Given the description of an element on the screen output the (x, y) to click on. 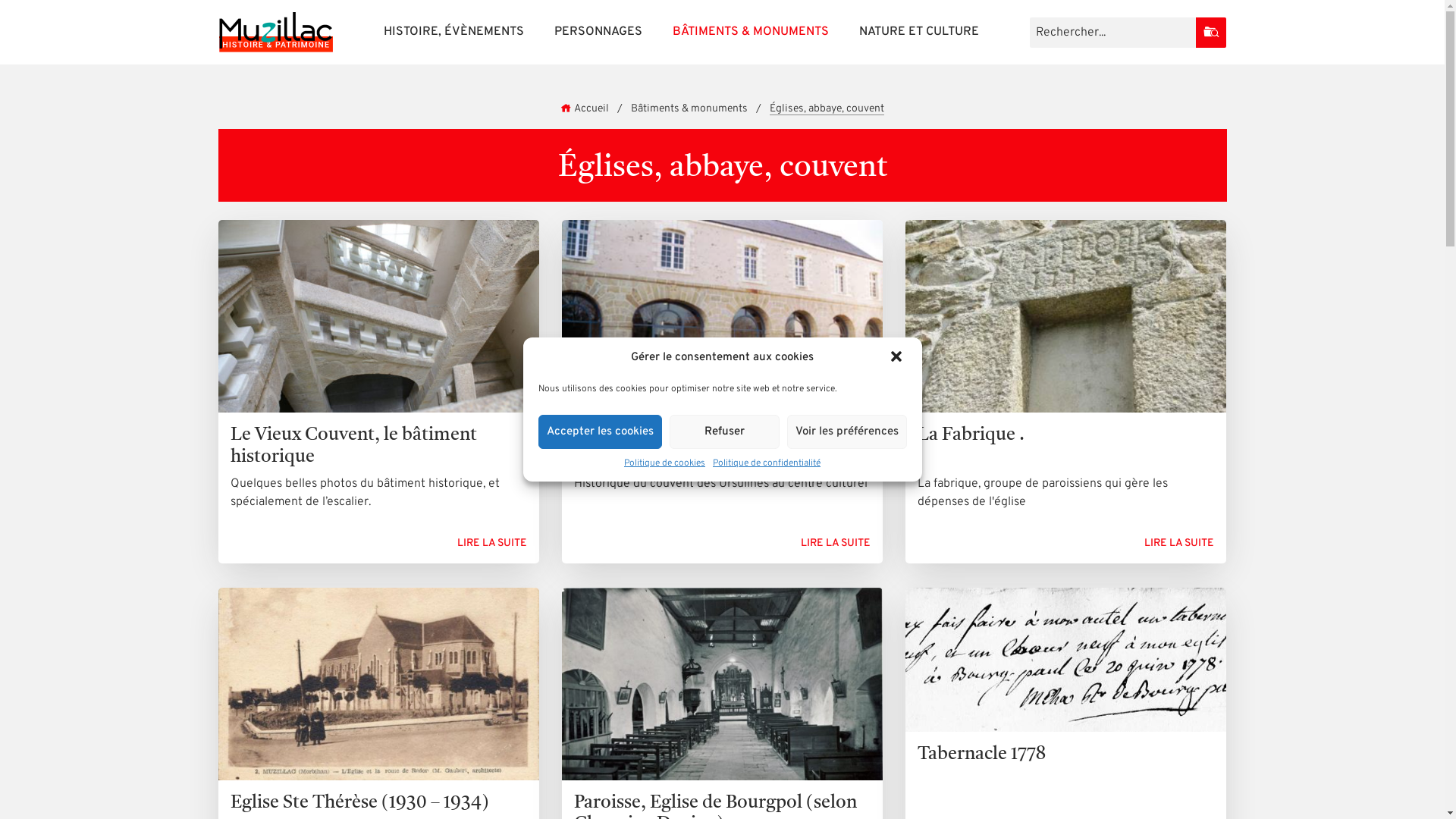
La Fabrique . Element type: text (1065, 335)
Accepter les cookies Element type: text (600, 431)
LIRE LA SUITE Element type: text (835, 543)
Tabernacle 1778 Element type: text (1065, 679)
Politique de cookies Element type: text (664, 463)
Refuser Element type: text (723, 431)
PERSONNAGES Element type: text (597, 31)
LIRE LA SUITE Element type: text (492, 543)
NATURE ET CULTURE Element type: text (918, 31)
Muzillac Patrimoine Element type: hover (275, 32)
LIRE LA SUITE Element type: text (1179, 543)
Accueil Element type: text (584, 108)
Vieux couvent, centre culturel en 1989 Element type: text (721, 346)
